Given the description of an element on the screen output the (x, y) to click on. 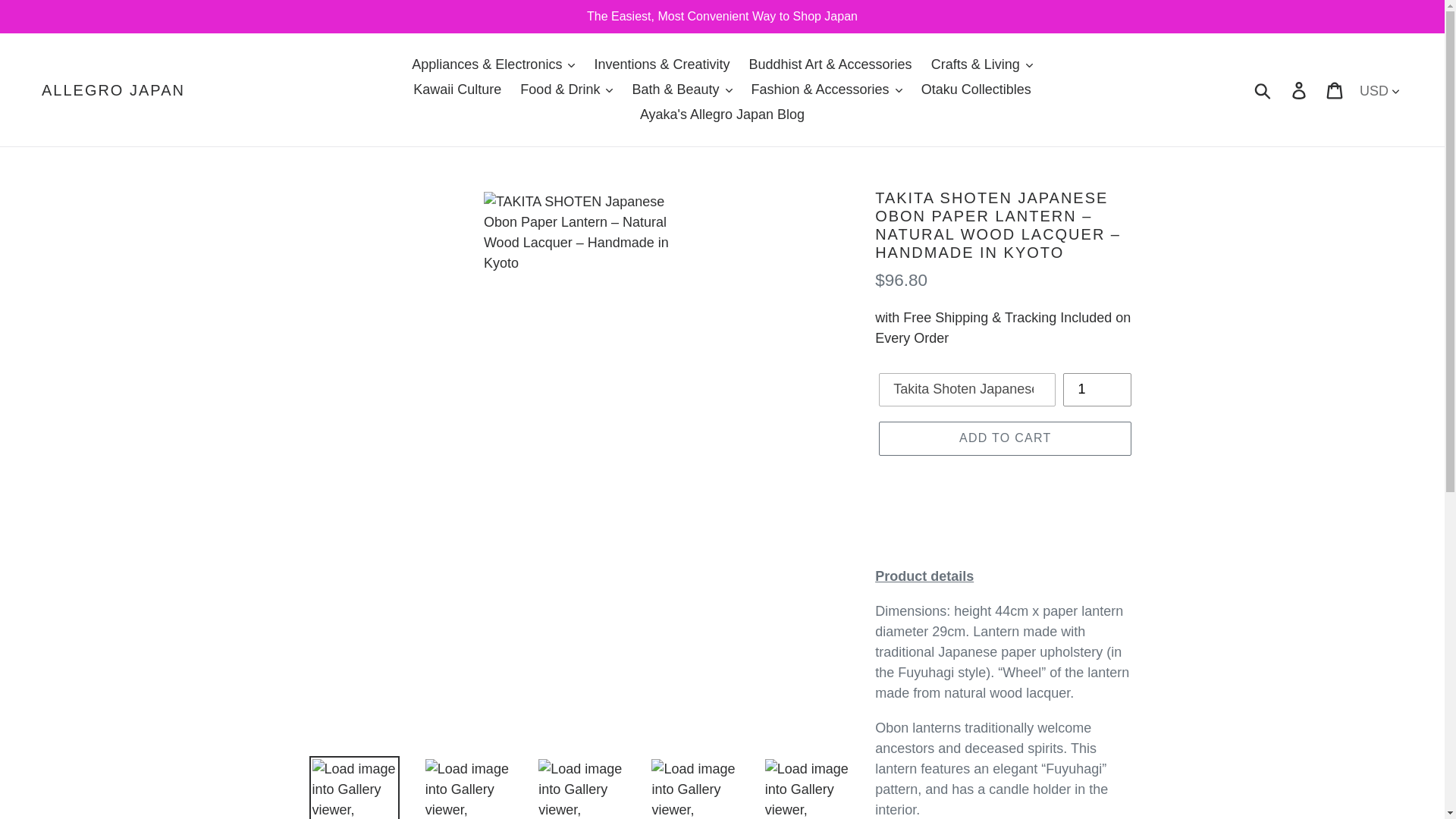
ALLEGRO JAPAN (113, 89)
1 (1096, 389)
Kawaii Culture (457, 89)
